Given the description of an element on the screen output the (x, y) to click on. 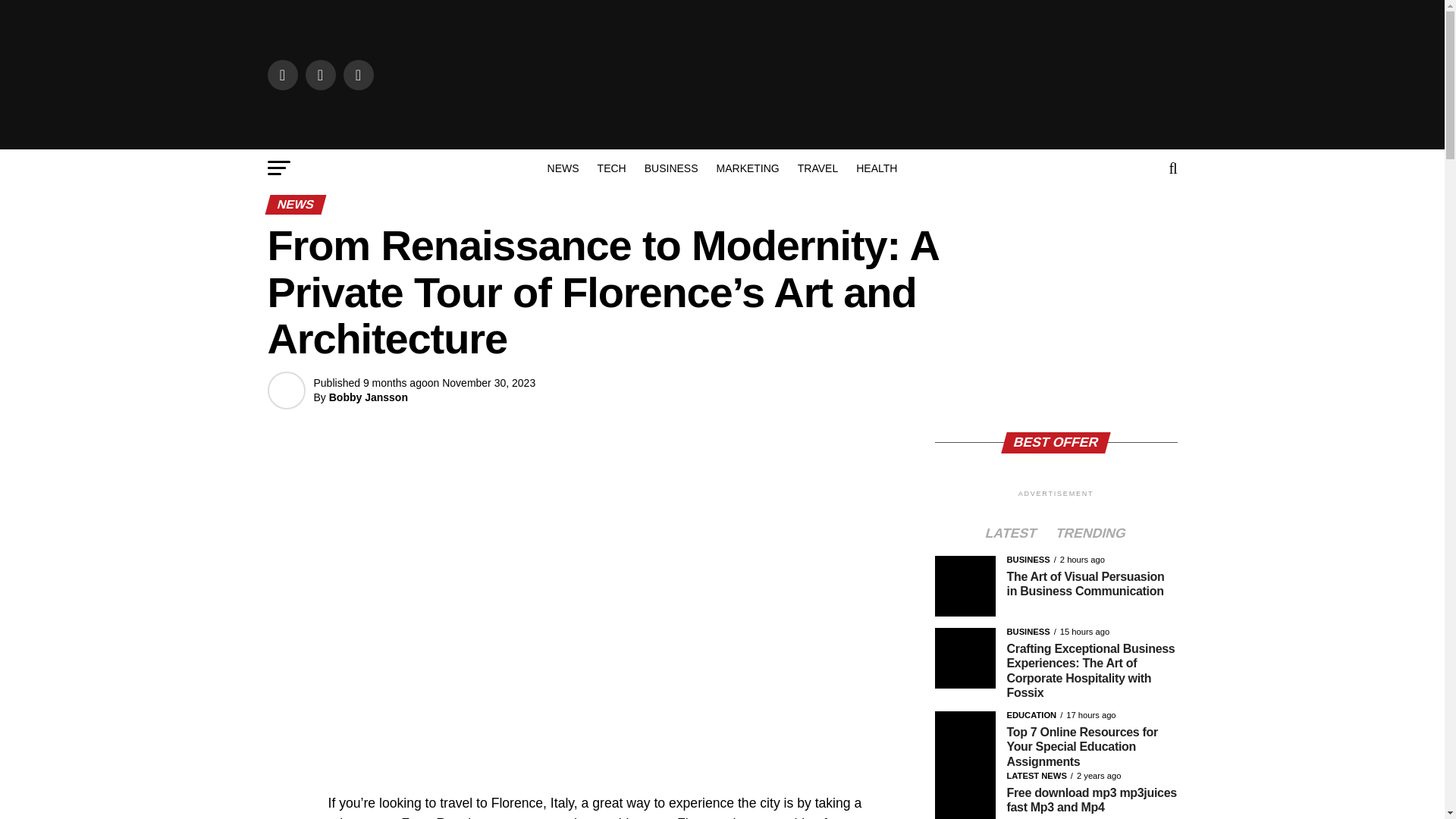
Bobby Jansson (368, 397)
Posts by Bobby Jansson (368, 397)
TRAVEL (818, 168)
NEWS (563, 168)
HEALTH (876, 168)
MARKETING (748, 168)
BUSINESS (670, 168)
TECH (611, 168)
